Given the description of an element on the screen output the (x, y) to click on. 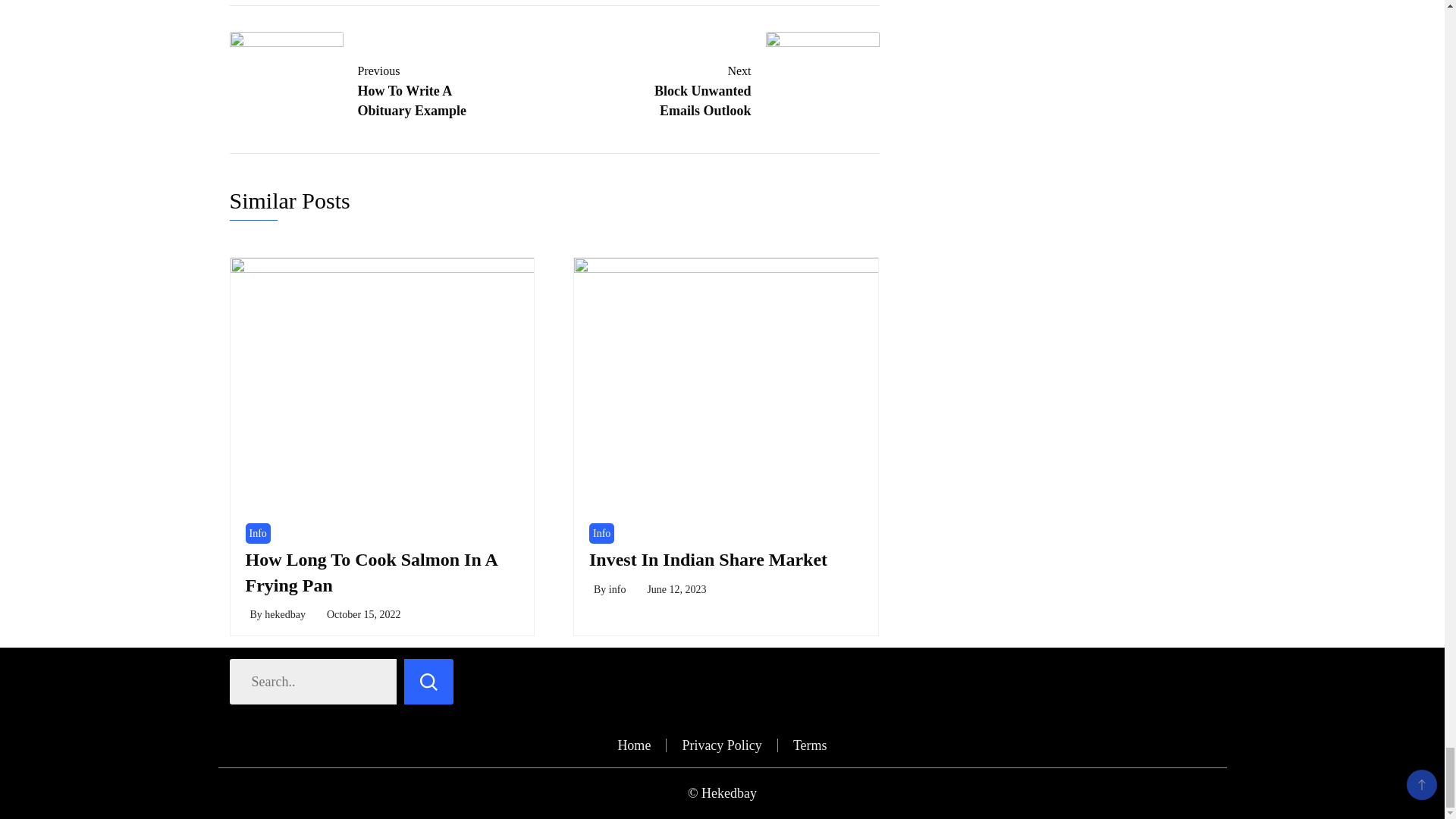
Info (601, 533)
How Long To Cook Salmon In A Frying Pan (371, 572)
Info (368, 88)
info (258, 533)
Invest In Indian Share Market (617, 589)
June 12, 2023 (708, 559)
October 15, 2022 (676, 589)
hekedbay (739, 88)
